Given the description of an element on the screen output the (x, y) to click on. 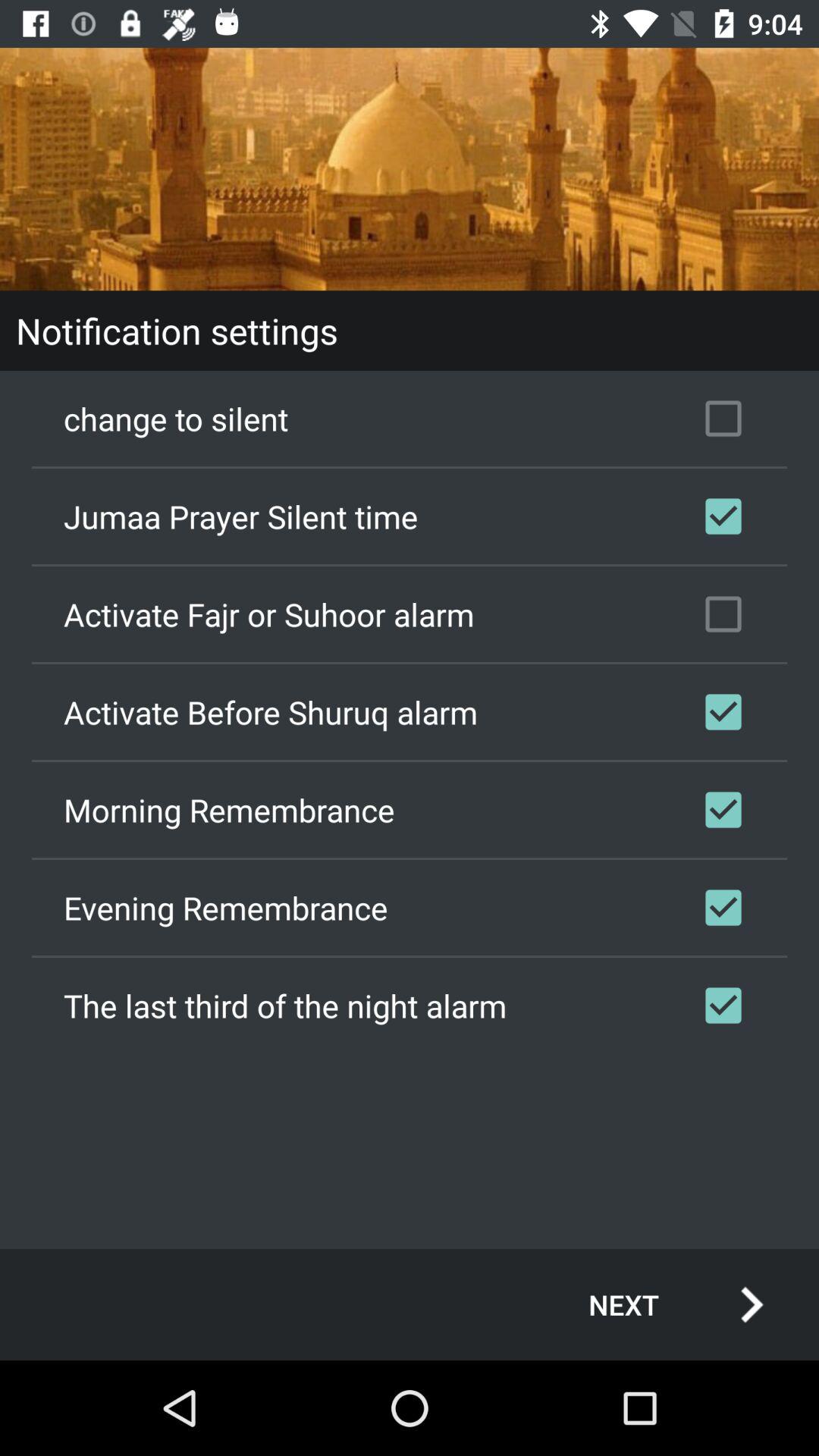
open the checkbox below the activate fajr or checkbox (409, 711)
